Given the description of an element on the screen output the (x, y) to click on. 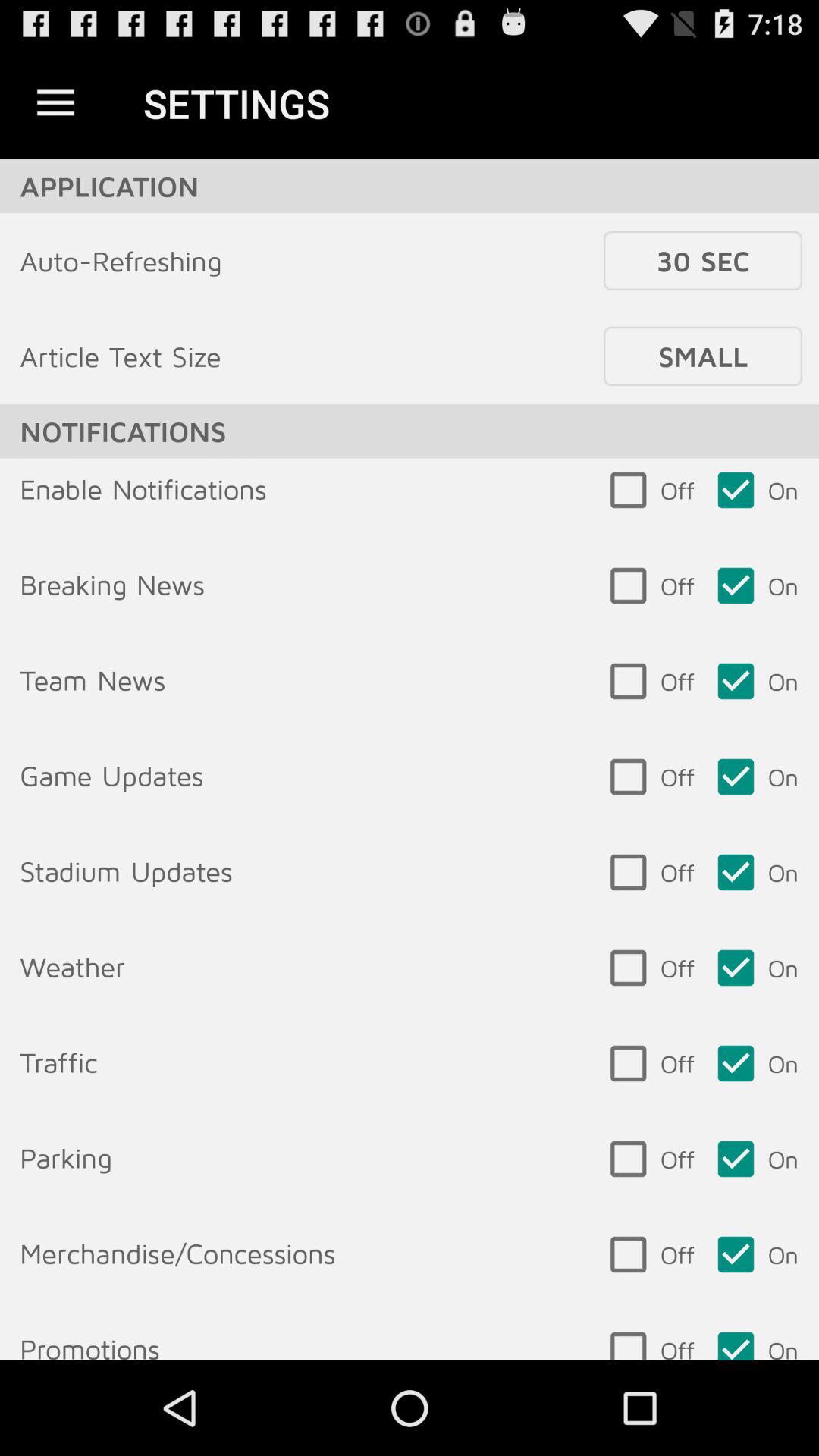
choose item to the left of settings icon (55, 103)
